Given the description of an element on the screen output the (x, y) to click on. 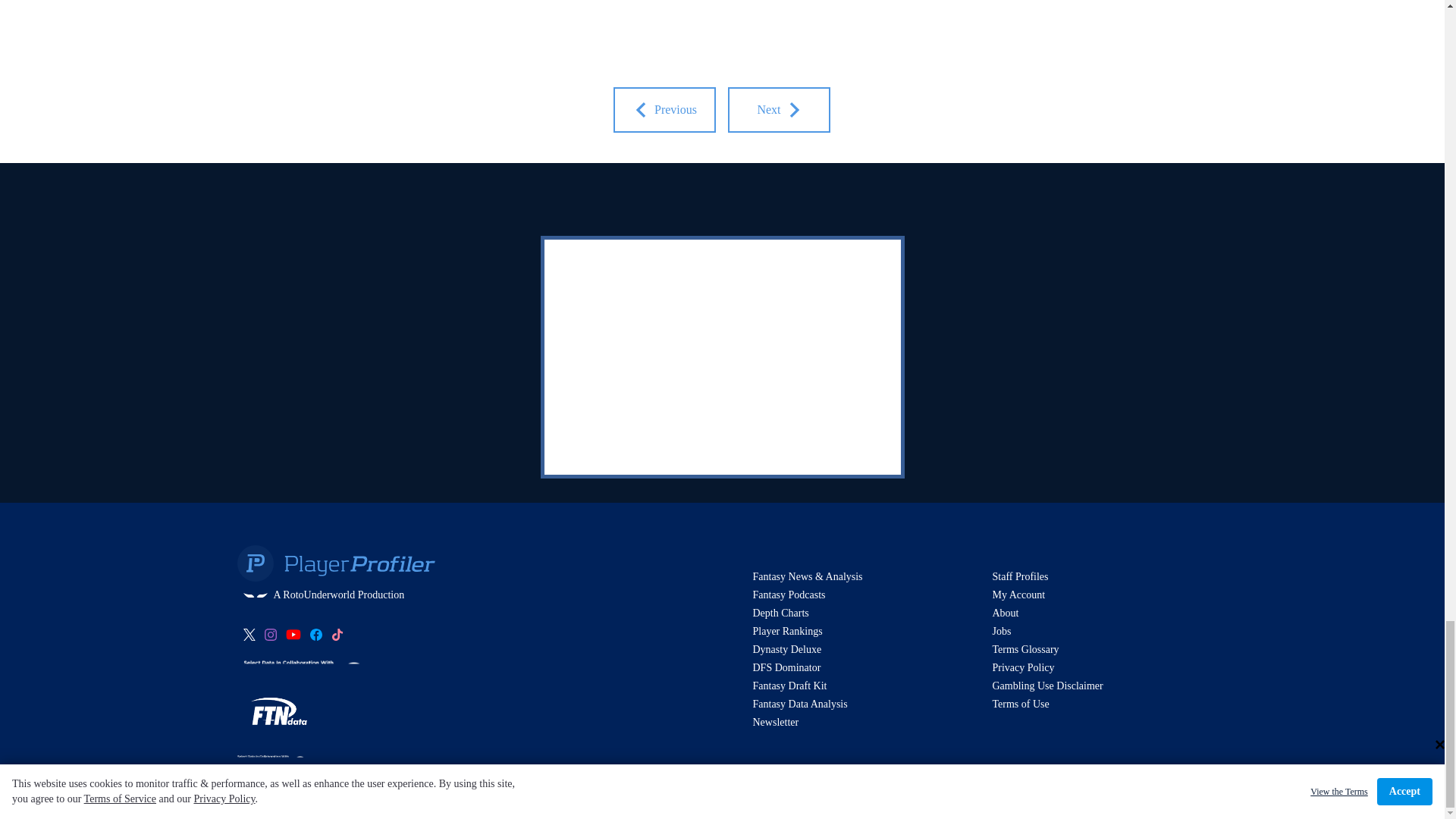
PlayerProfiler on X (248, 634)
RotoUnderworld on Instagram (269, 634)
RotoUnderworld on Facebook (314, 634)
RotoUnderworld on YouTube (292, 634)
RotoUnderworld on Sound Cloud (336, 634)
